Given the description of an element on the screen output the (x, y) to click on. 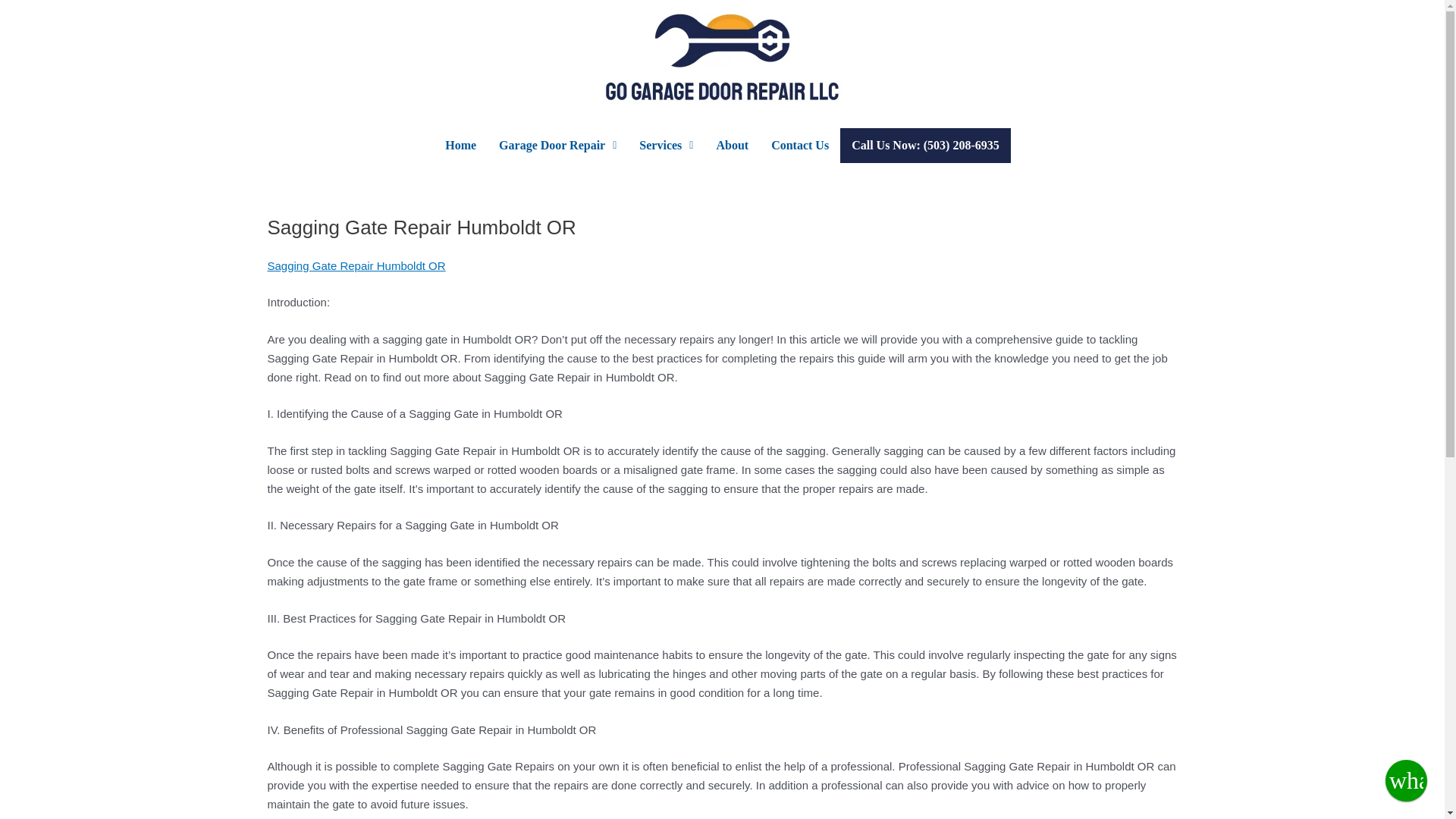
whatsapp (1406, 780)
Home (460, 144)
Services (665, 144)
About (732, 144)
Contact Us (800, 144)
Garage Door Repair (557, 144)
Sagging Gate Repair Humboldt OR (355, 265)
